Given the description of an element on the screen output the (x, y) to click on. 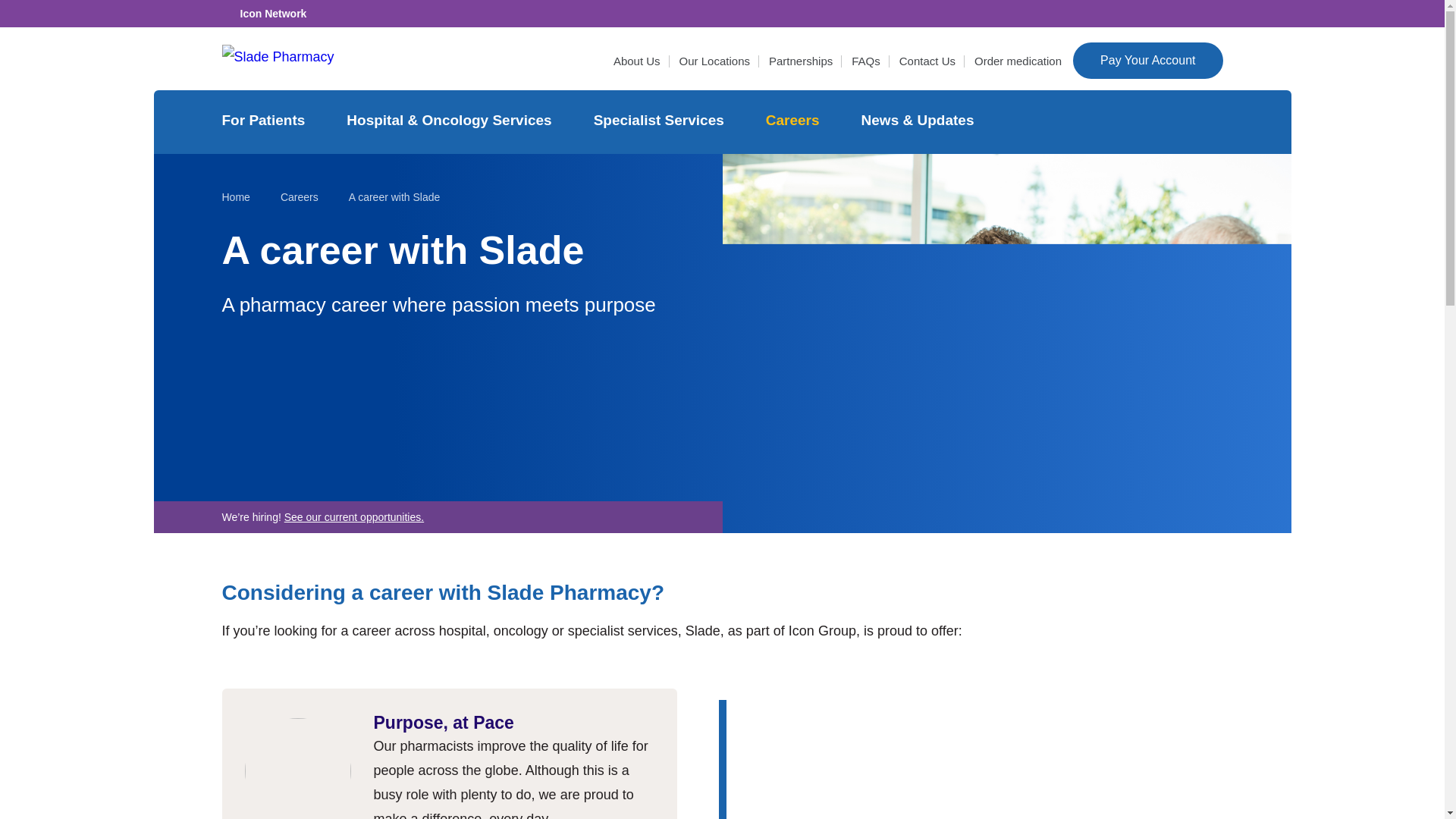
About Us (636, 61)
Pay Your Account (1148, 60)
For Patients (266, 121)
Our Locations (714, 61)
Partnerships (800, 61)
Order medication (1017, 61)
Contact Us (927, 61)
Specialist Services (660, 121)
FAQs (865, 61)
